Given the description of an element on the screen output the (x, y) to click on. 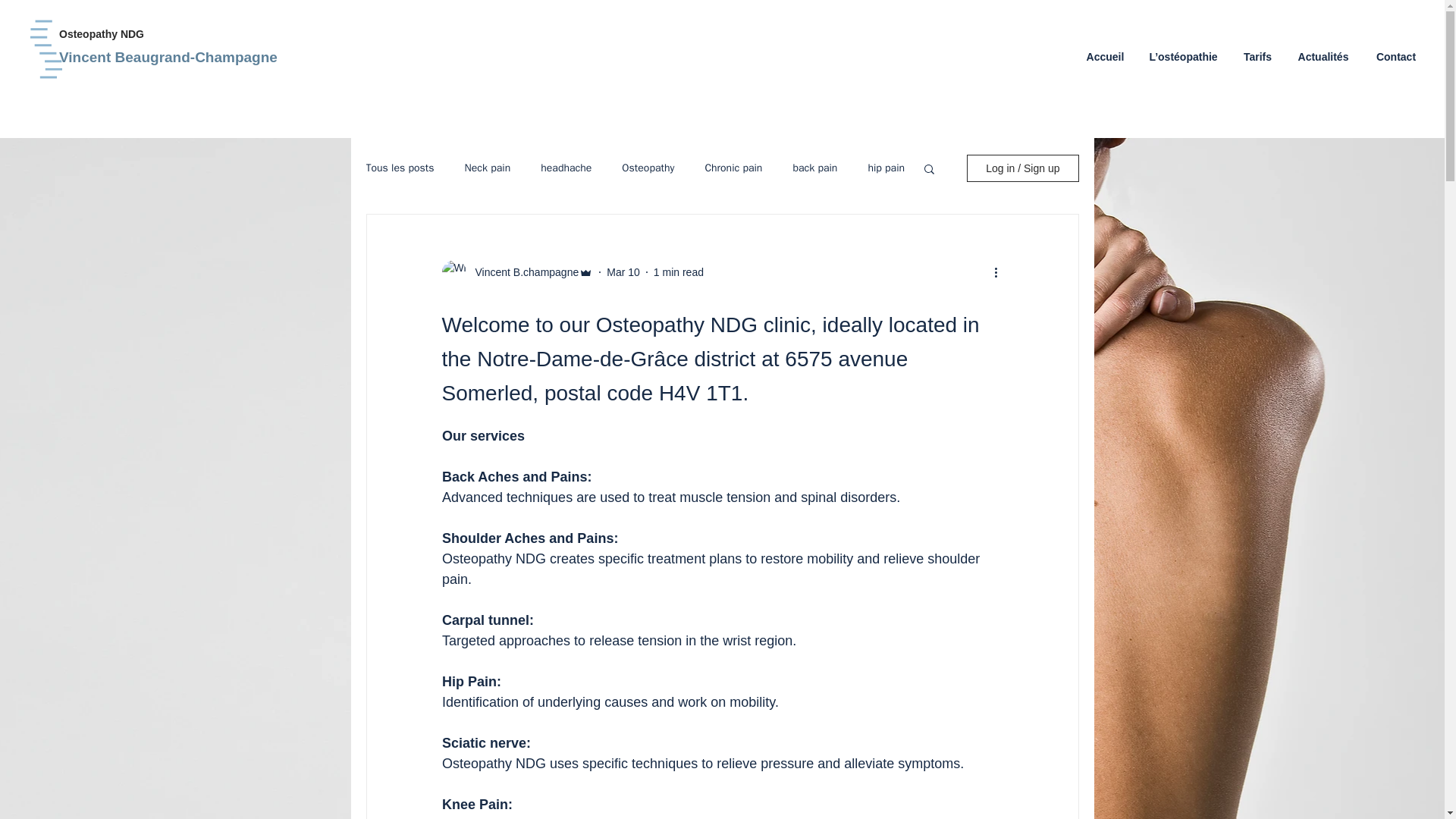
Mar 10 (623, 271)
Vincent B.champagne (521, 271)
Osteopathy NDG (131, 34)
Chronic pain (732, 168)
Neck pain (487, 168)
Tous les posts (399, 168)
1 min read (678, 271)
Osteopathy (647, 168)
Contact (1395, 56)
back pain (814, 168)
Vincent Beaugrand-Champagne (226, 57)
headhache (565, 168)
hip pain (885, 168)
